Given the description of an element on the screen output the (x, y) to click on. 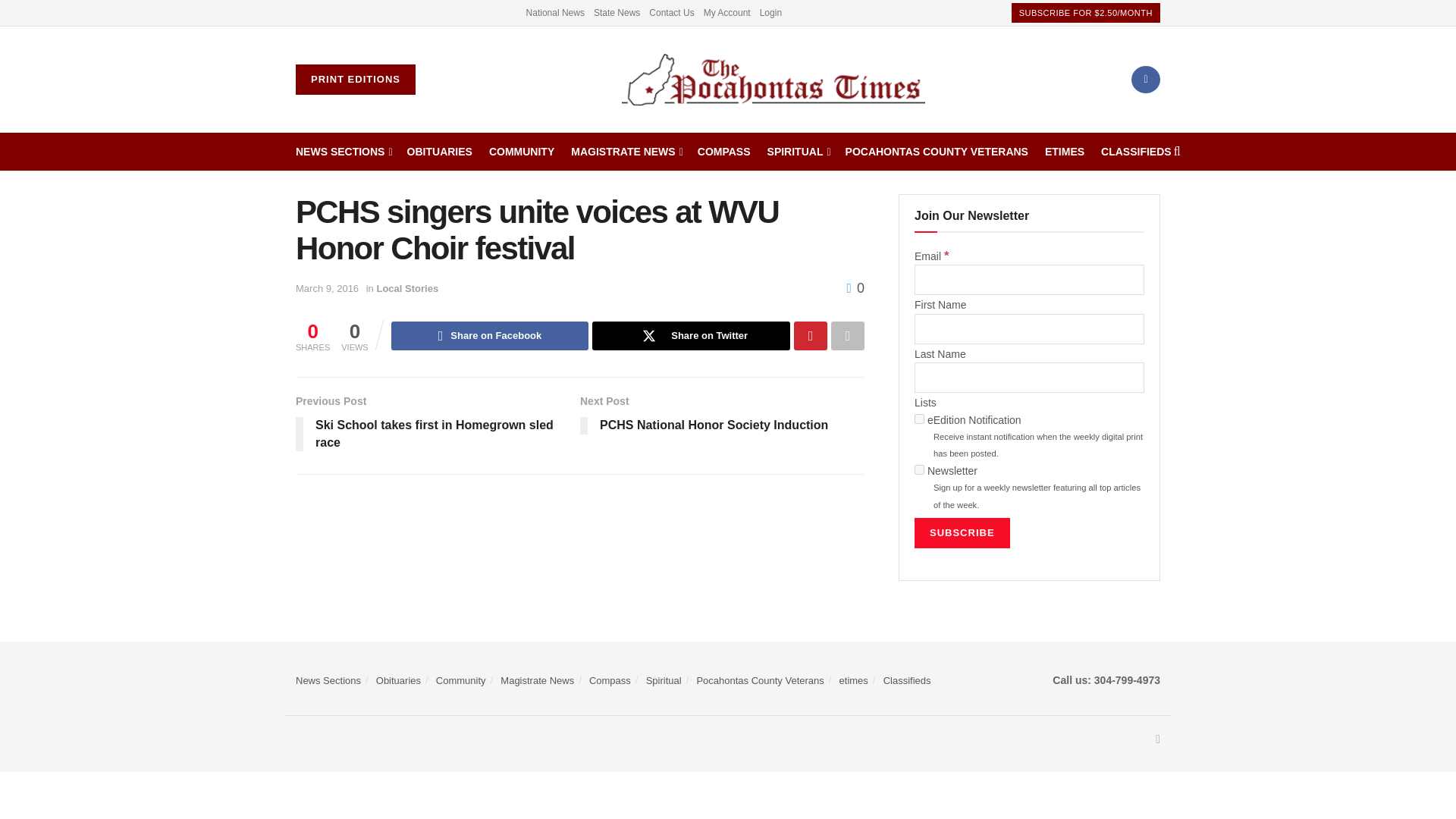
CLASSIFIEDS (1136, 151)
MAGISTRATE NEWS (625, 151)
State News (617, 12)
Subscribe (962, 532)
ETIMES (1064, 151)
National News (555, 12)
COMPASS (724, 151)
2 (919, 470)
